Given the description of an element on the screen output the (x, y) to click on. 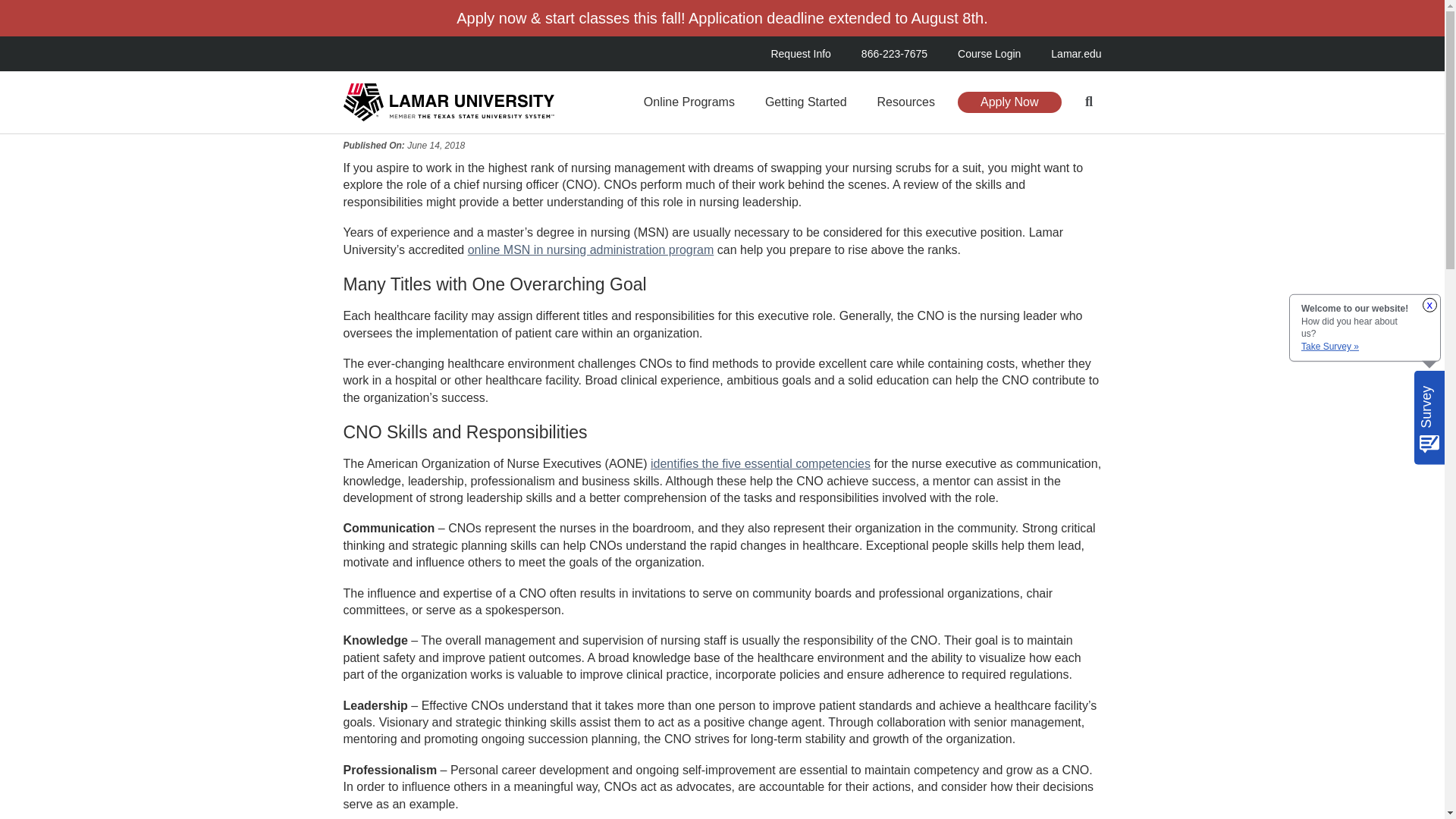
Lamar.edu (1067, 53)
Request Info (807, 53)
Online Programs (692, 101)
Lamar University Logo (447, 101)
866-223-7675 (893, 53)
Course Login (988, 53)
